Given the description of an element on the screen output the (x, y) to click on. 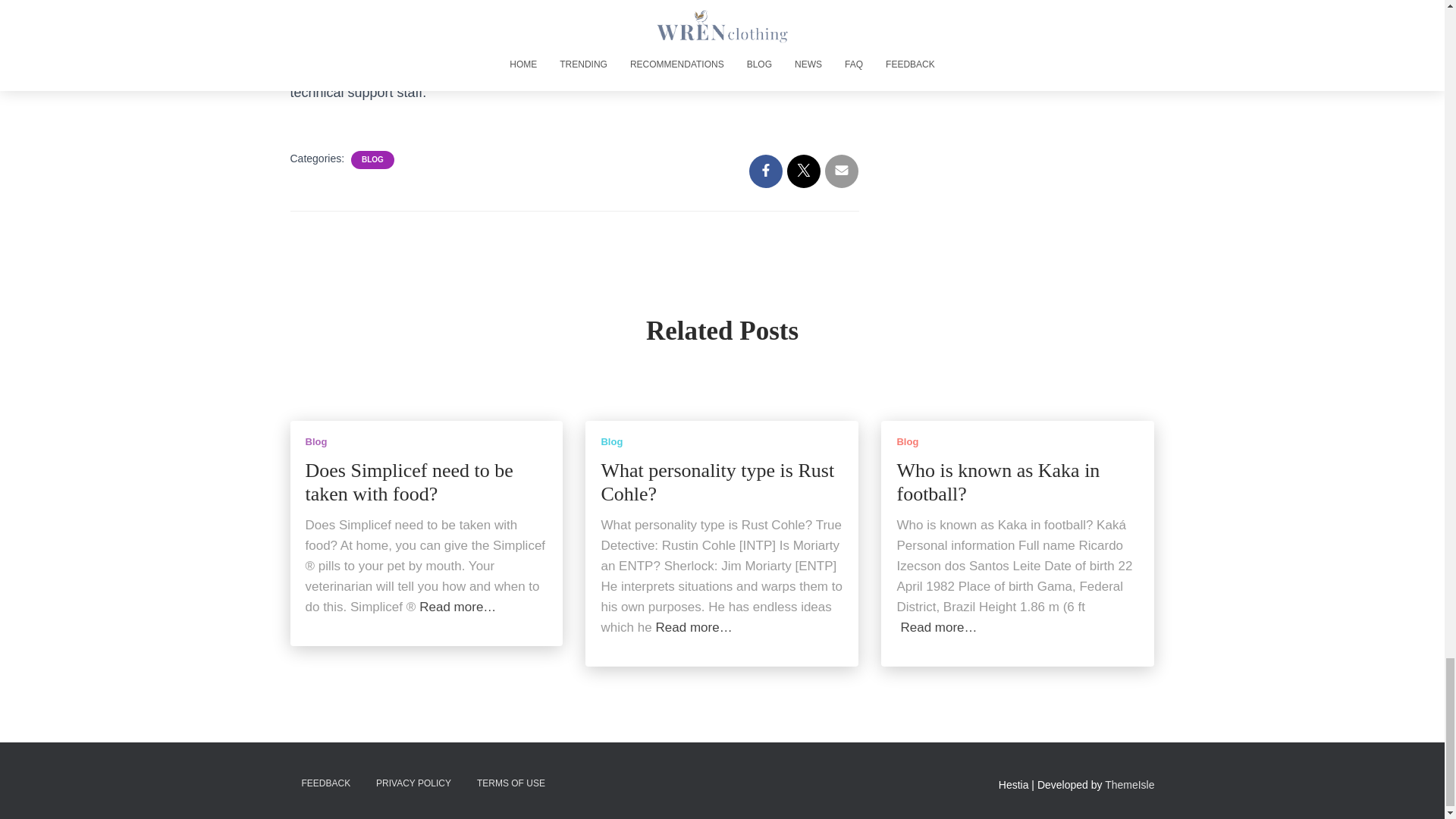
Blog (315, 441)
BLOG (372, 159)
